Given the description of an element on the screen output the (x, y) to click on. 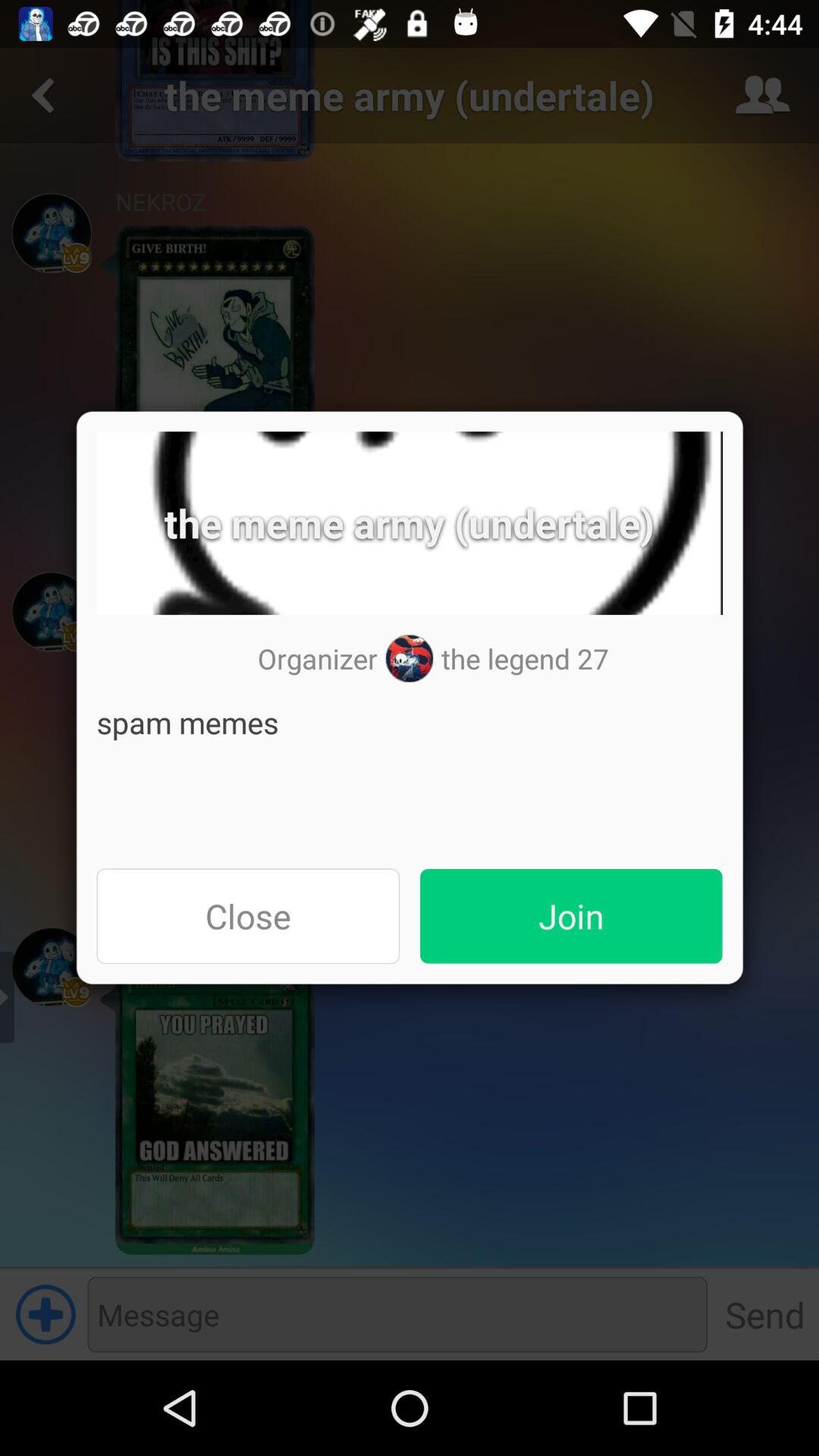
swipe to join item (570, 916)
